Given the description of an element on the screen output the (x, y) to click on. 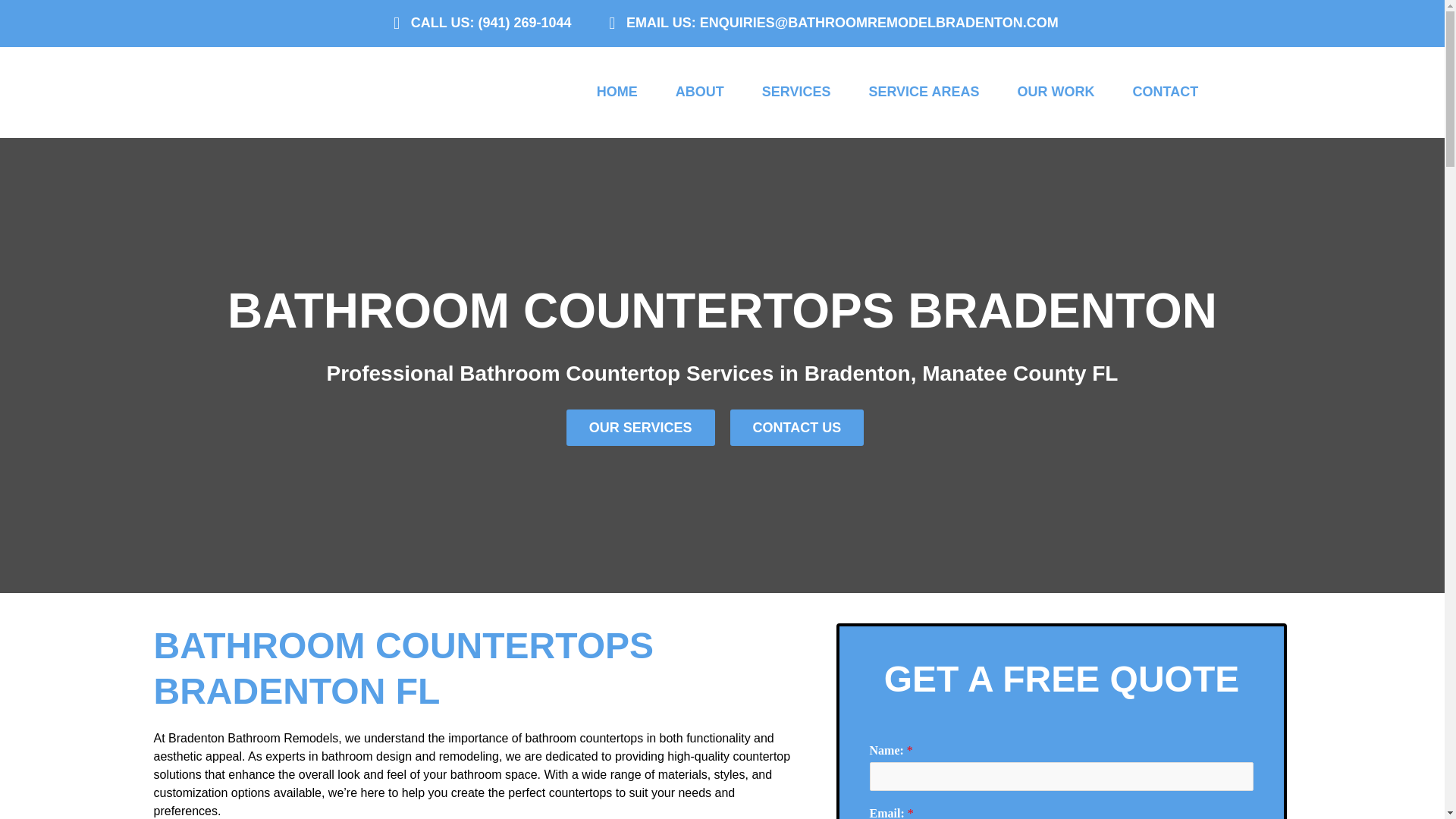
CONTACT (1164, 92)
HOME (616, 92)
SERVICE AREAS (923, 92)
SERVICES (795, 92)
OUR WORK (1055, 92)
ABOUT (700, 92)
